Given the description of an element on the screen output the (x, y) to click on. 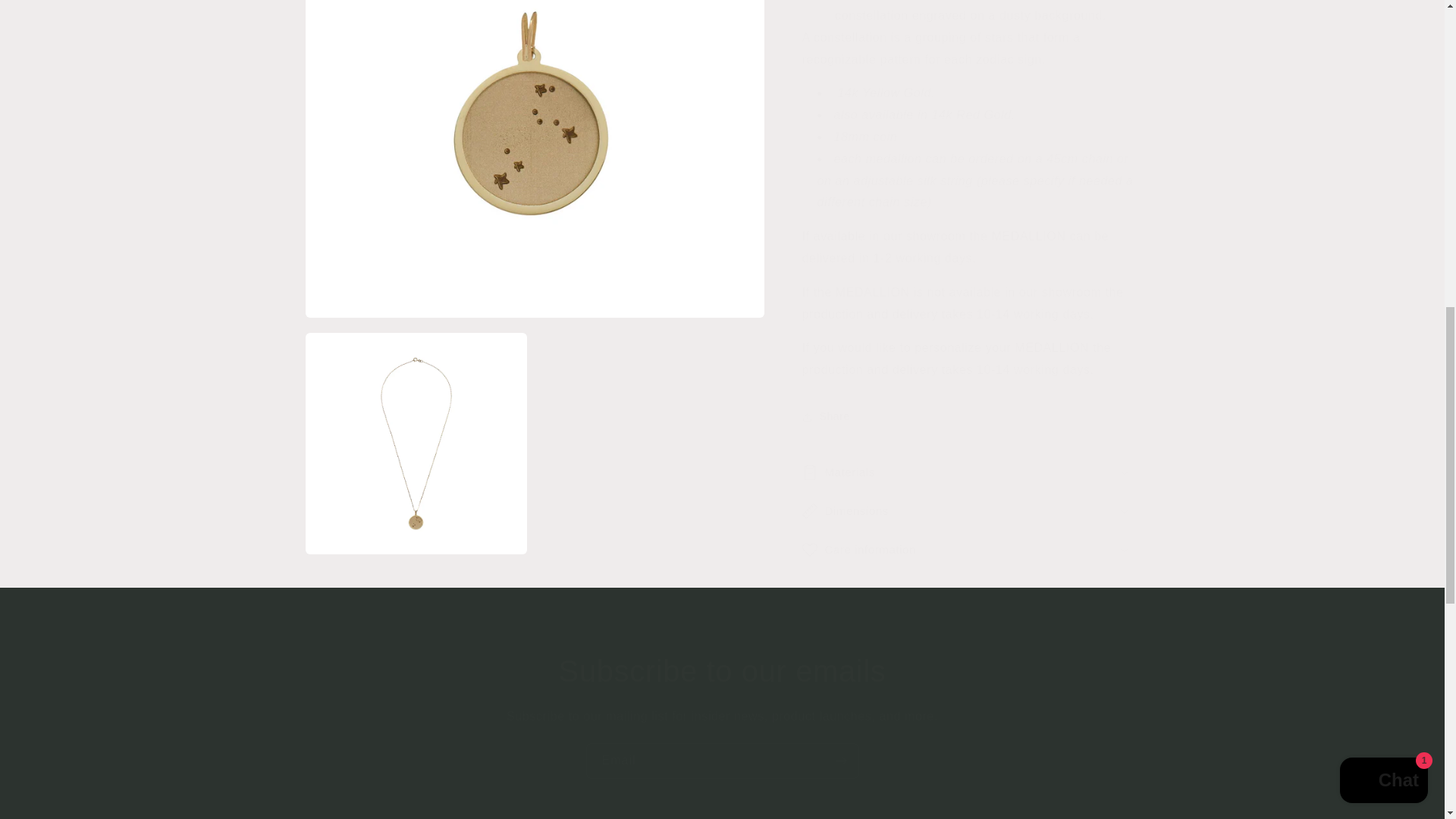
Subscribe to our emails (721, 671)
Open media 2 in modal (415, 56)
Email (722, 760)
